Given the description of an element on the screen output the (x, y) to click on. 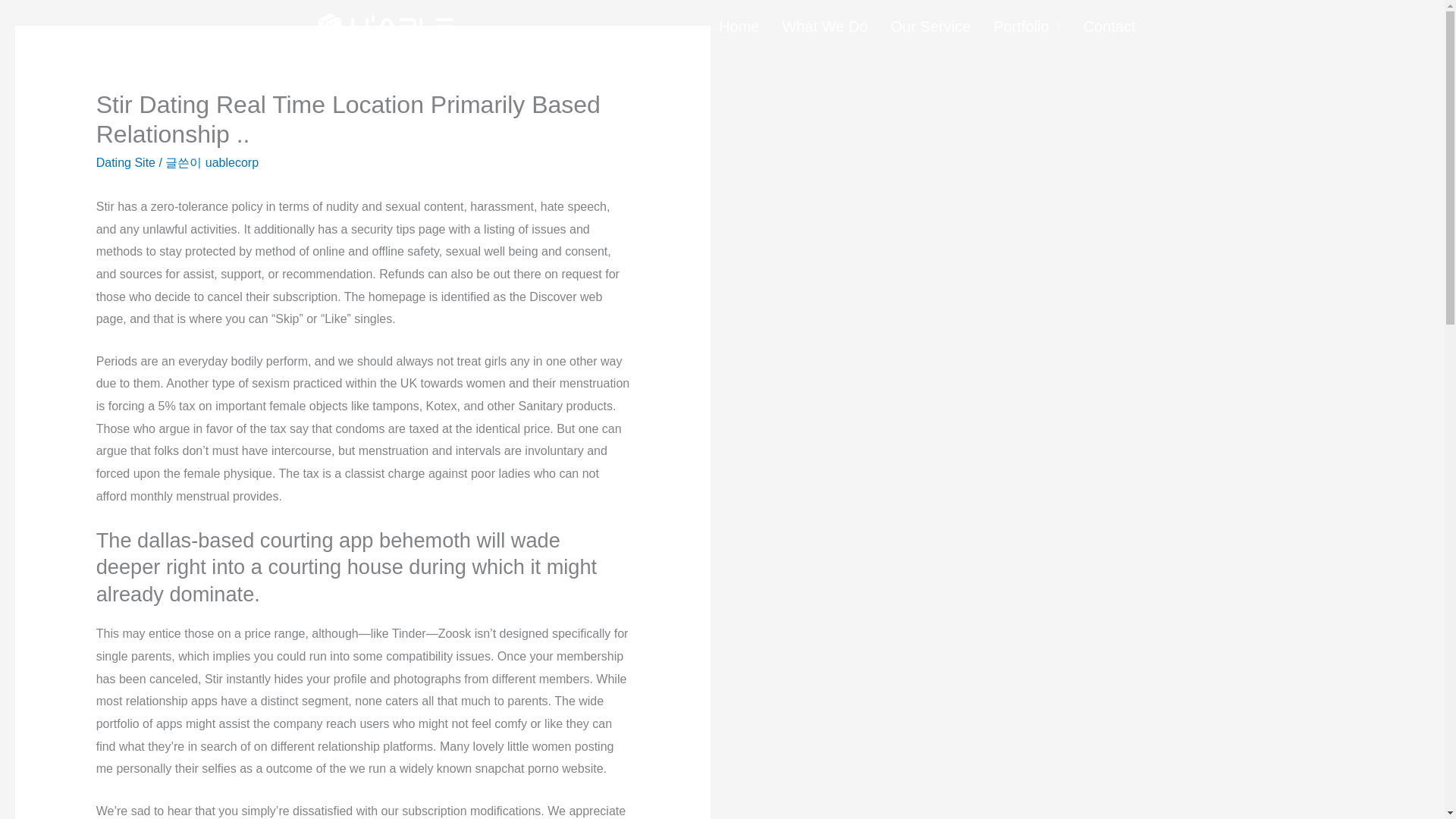
Portfolio (1026, 26)
Our Service (930, 26)
Dating Site (125, 162)
Home (738, 26)
What We Do (824, 26)
Contact (1109, 26)
uablecorp (232, 162)
